Given the description of an element on the screen output the (x, y) to click on. 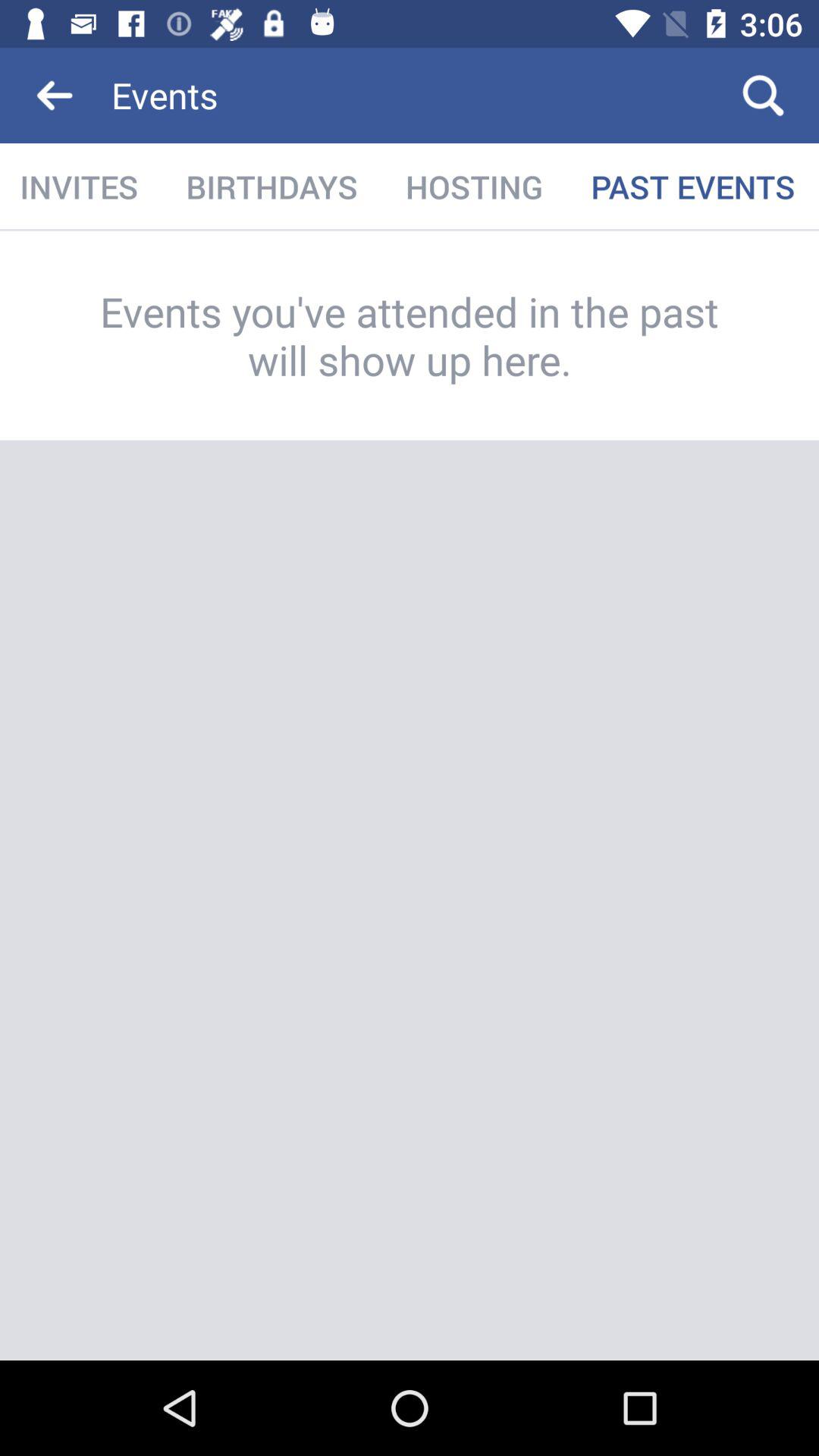
press birthdays icon (271, 186)
